Given the description of an element on the screen output the (x, y) to click on. 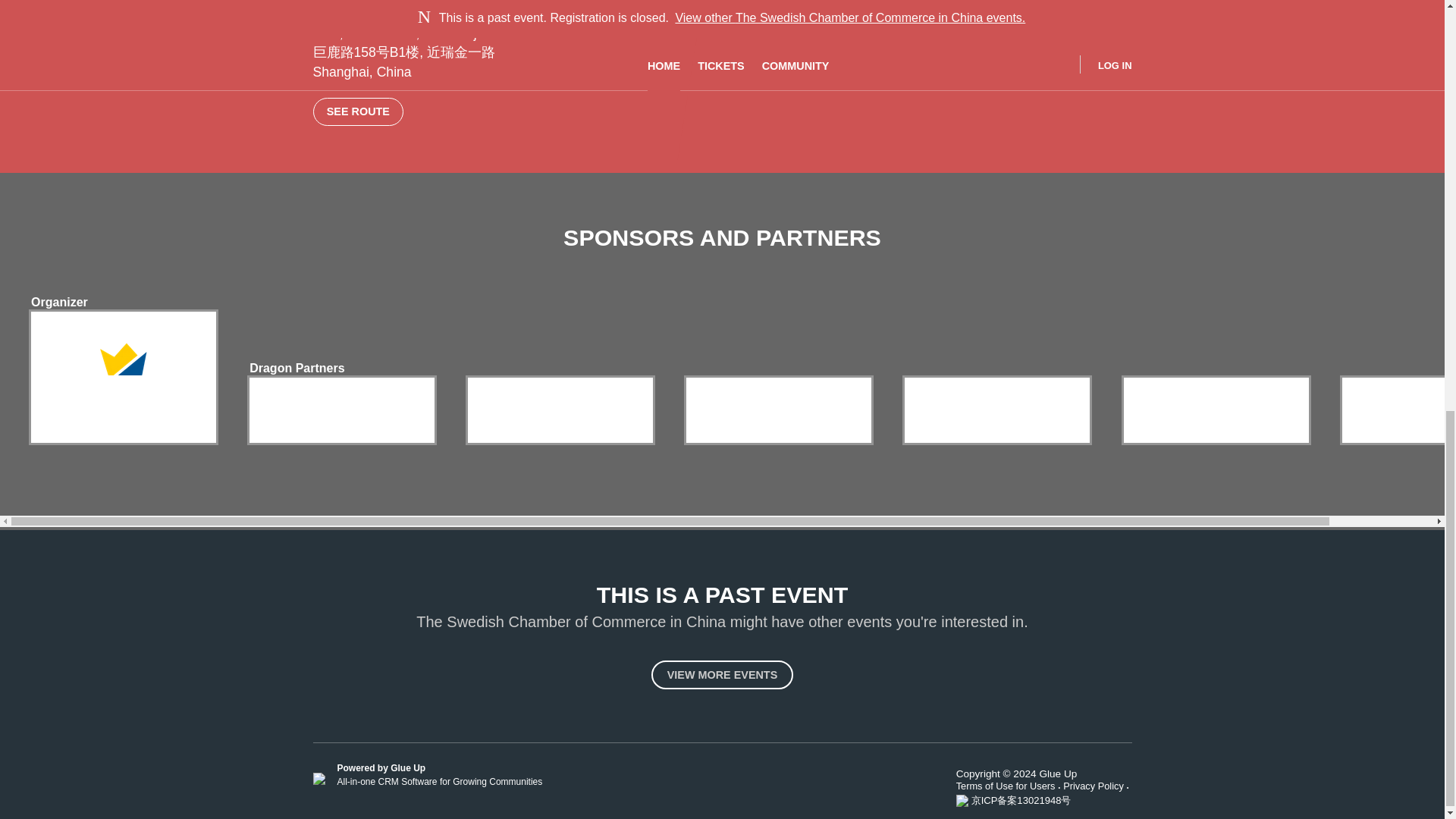
Privacy Policy (1096, 785)
Terms of Use for Users (1010, 785)
SEE ROUTE (358, 111)
VIEW MORE EVENTS (721, 675)
